Given the description of an element on the screen output the (x, y) to click on. 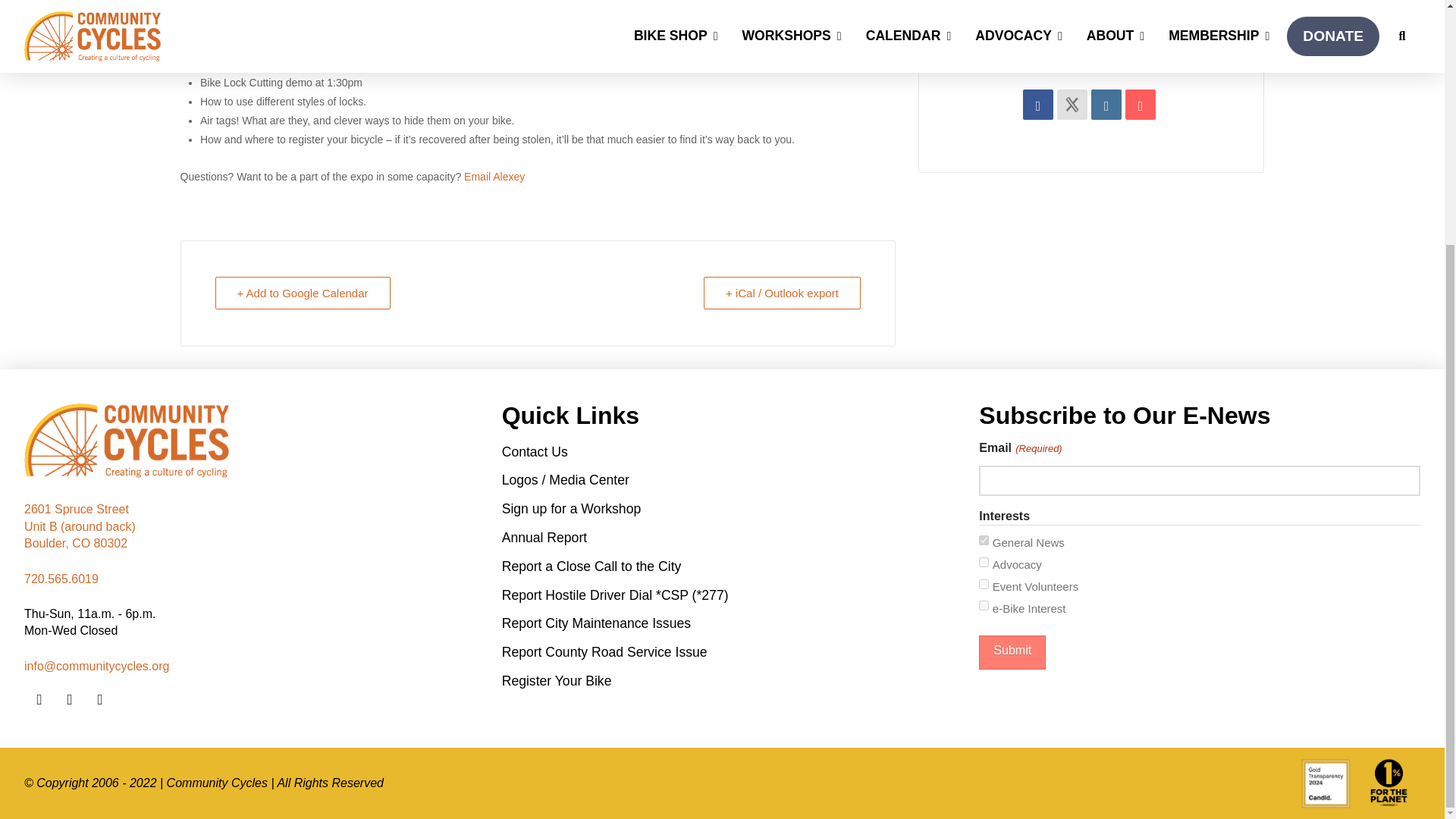
e-Bike Interest (983, 605)
Email (1140, 104)
Event Volunteers (983, 583)
Advocacy (983, 562)
Linkedin (1105, 104)
X Social Network (1072, 104)
General News (983, 540)
Share on Facebook (1037, 104)
Submit (1011, 652)
